Given the description of an element on the screen output the (x, y) to click on. 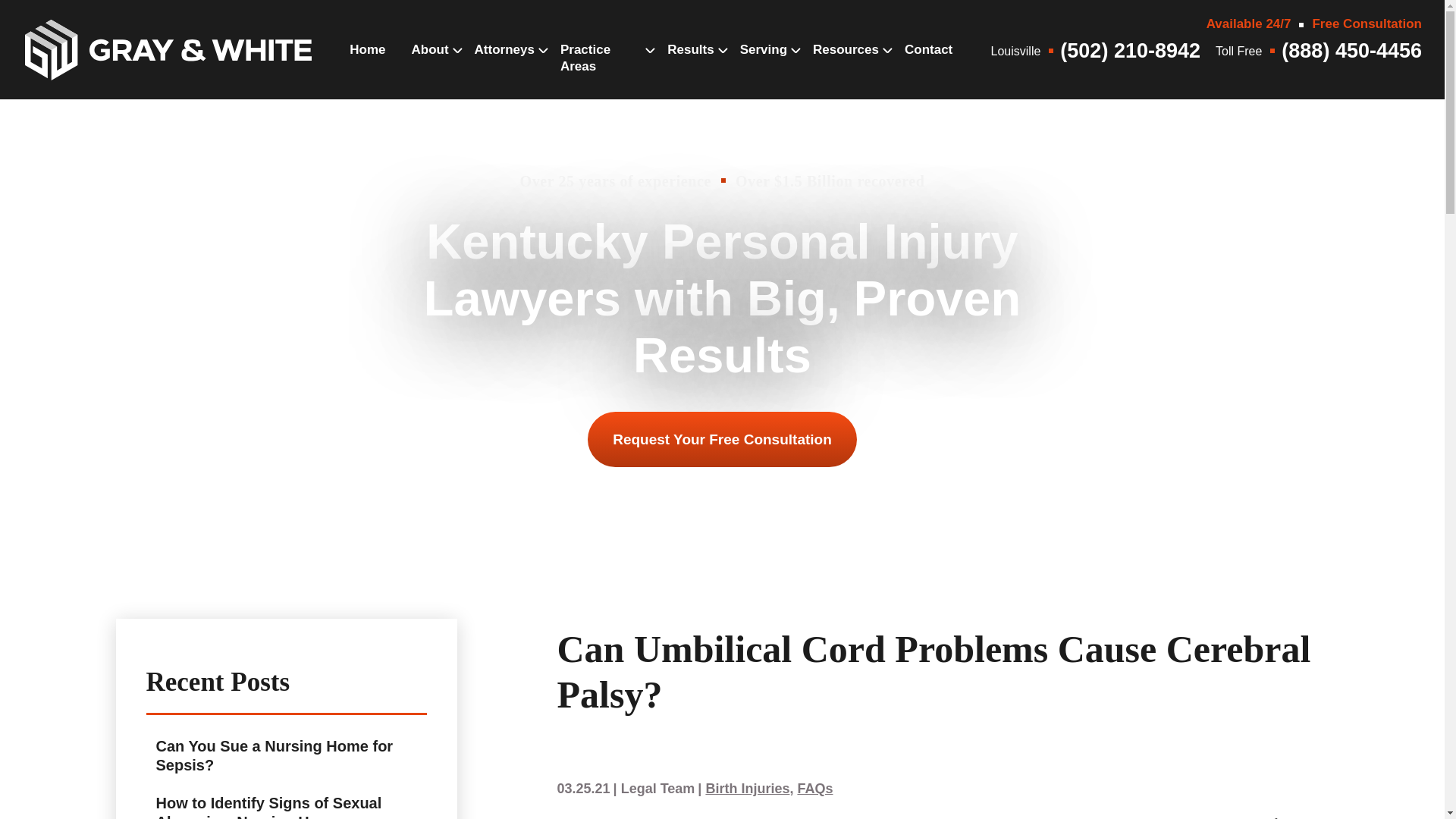
Results (689, 64)
Practice Areas (601, 73)
Attorneys (504, 64)
Resources (845, 64)
Serving (763, 64)
